Given the description of an element on the screen output the (x, y) to click on. 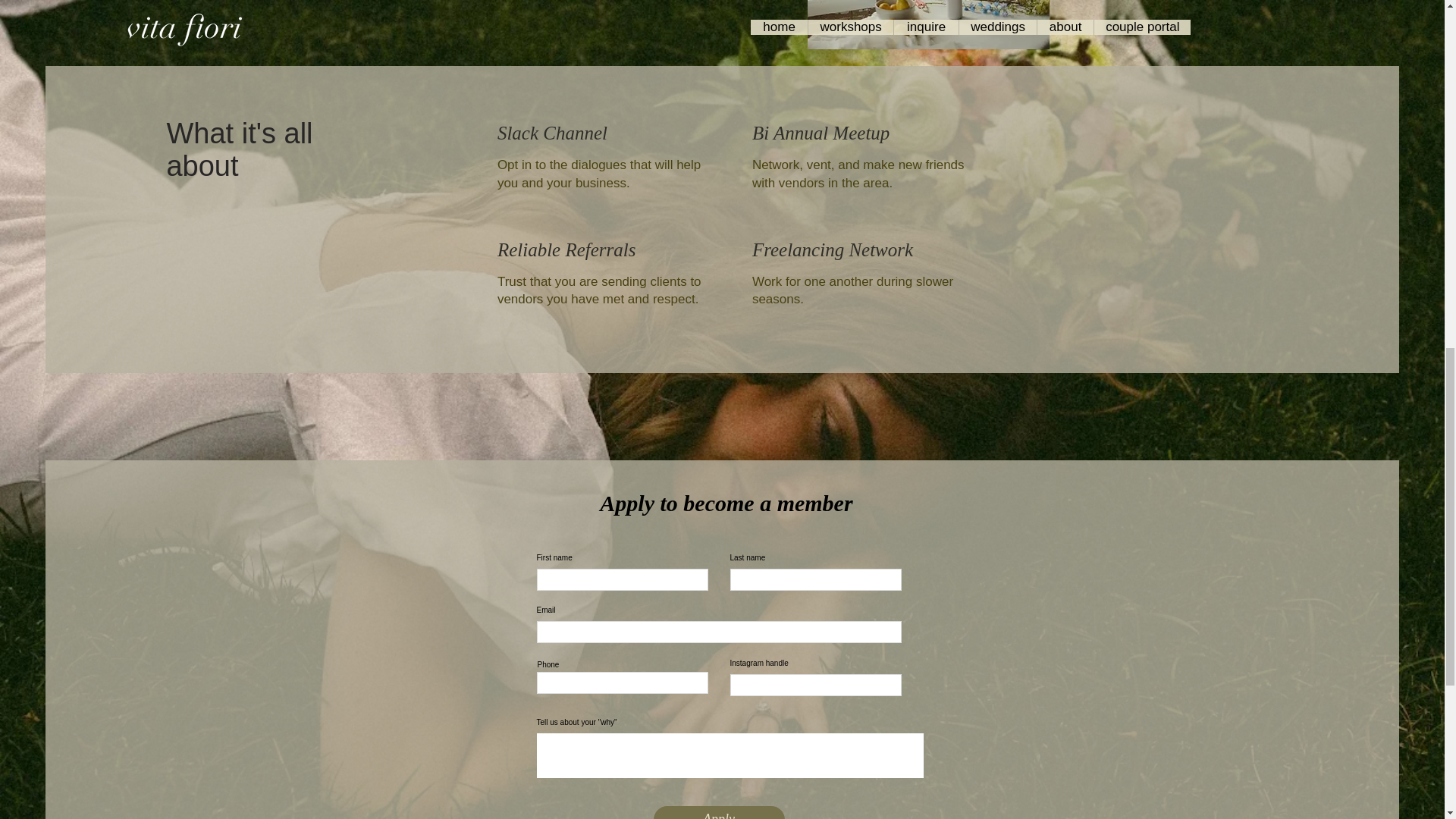
Apply (718, 812)
